Given the description of an element on the screen output the (x, y) to click on. 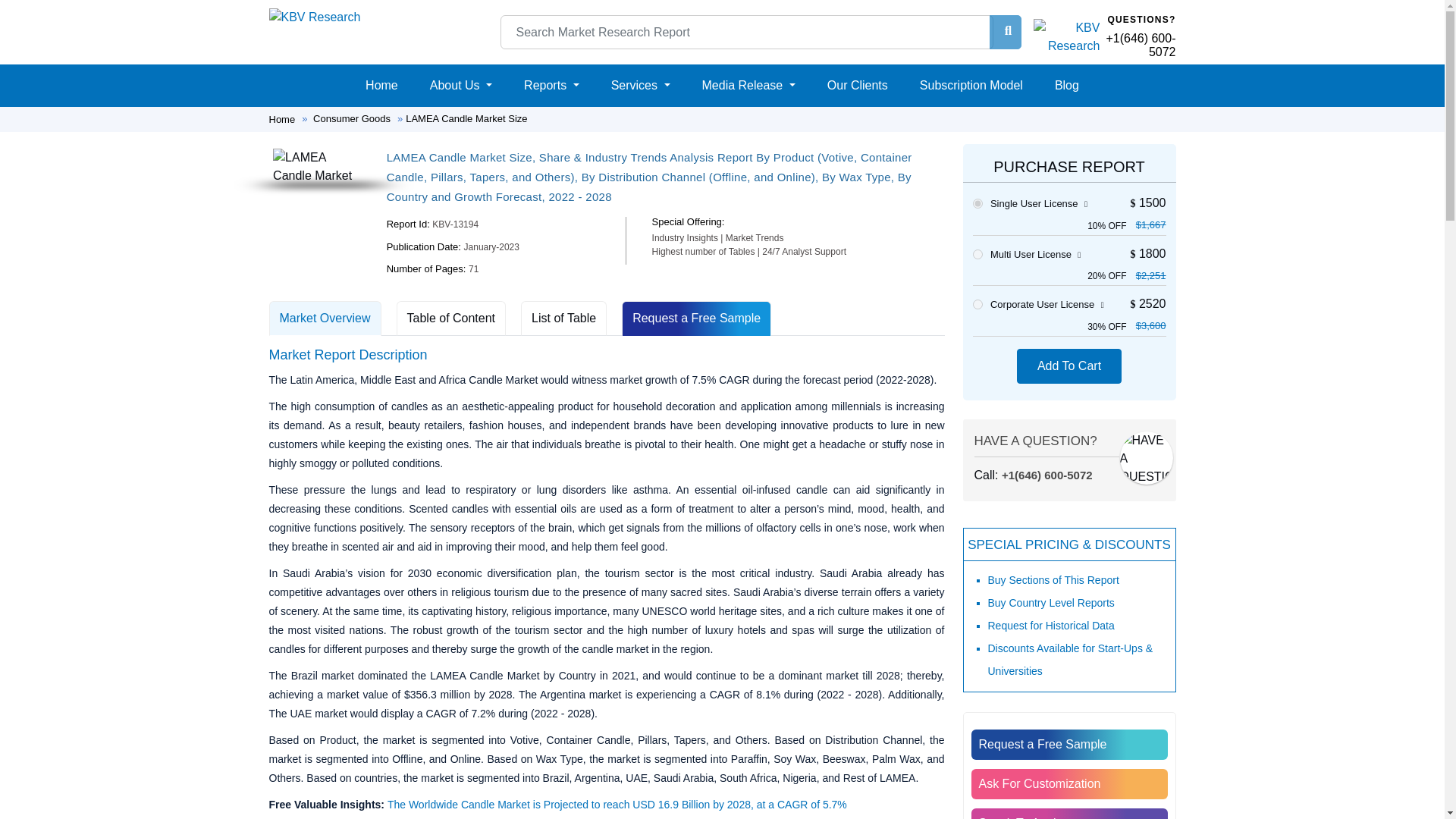
Home (381, 85)
Our Clients (857, 85)
Media Release (748, 85)
Services (641, 85)
Reports (551, 85)
About Us (460, 85)
1500 (976, 203)
Blog (1066, 85)
2520 (976, 304)
KBV Research (313, 17)
